Given the description of an element on the screen output the (x, y) to click on. 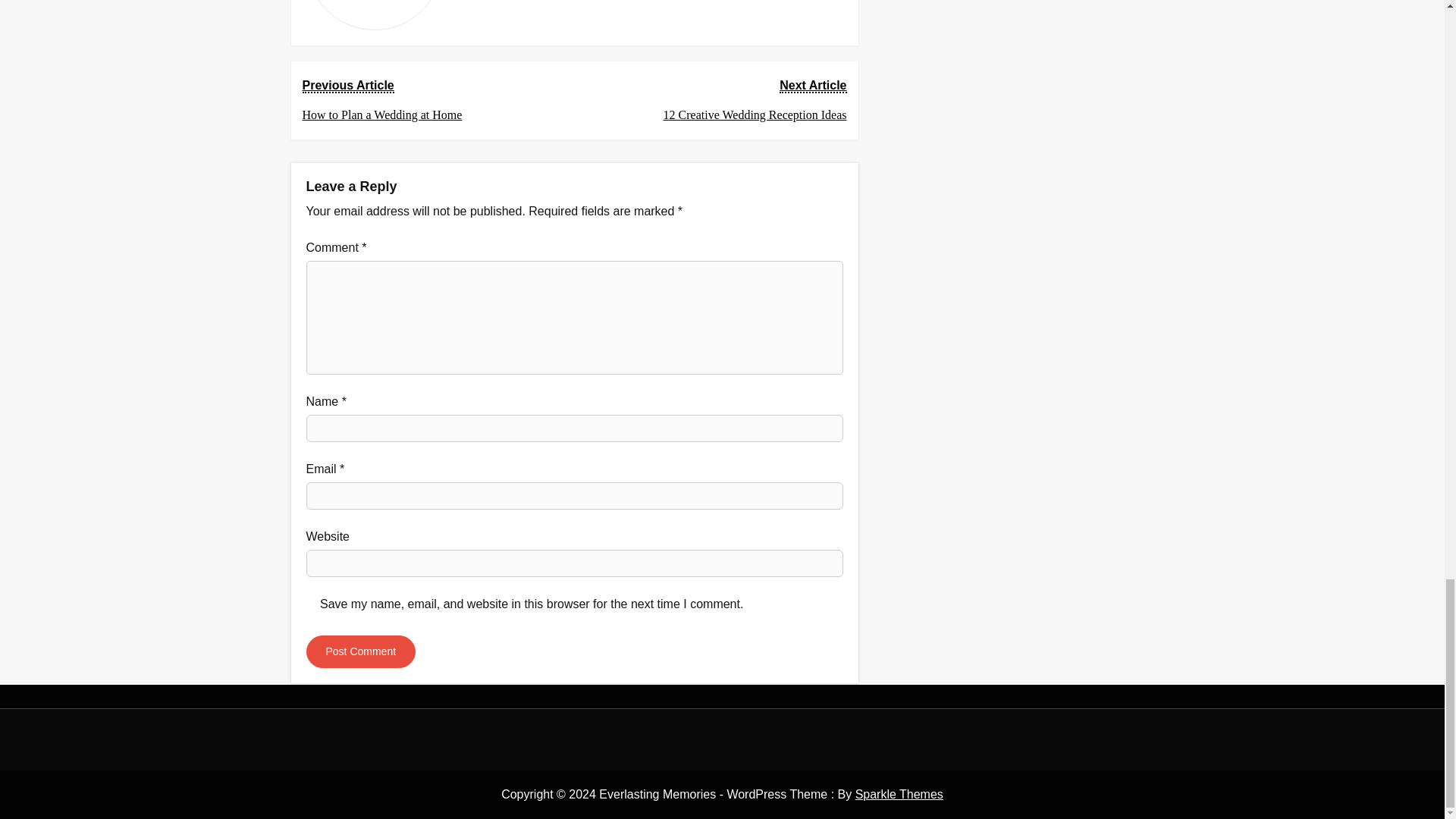
Post Comment (431, 100)
Post Comment (715, 100)
